Given the description of an element on the screen output the (x, y) to click on. 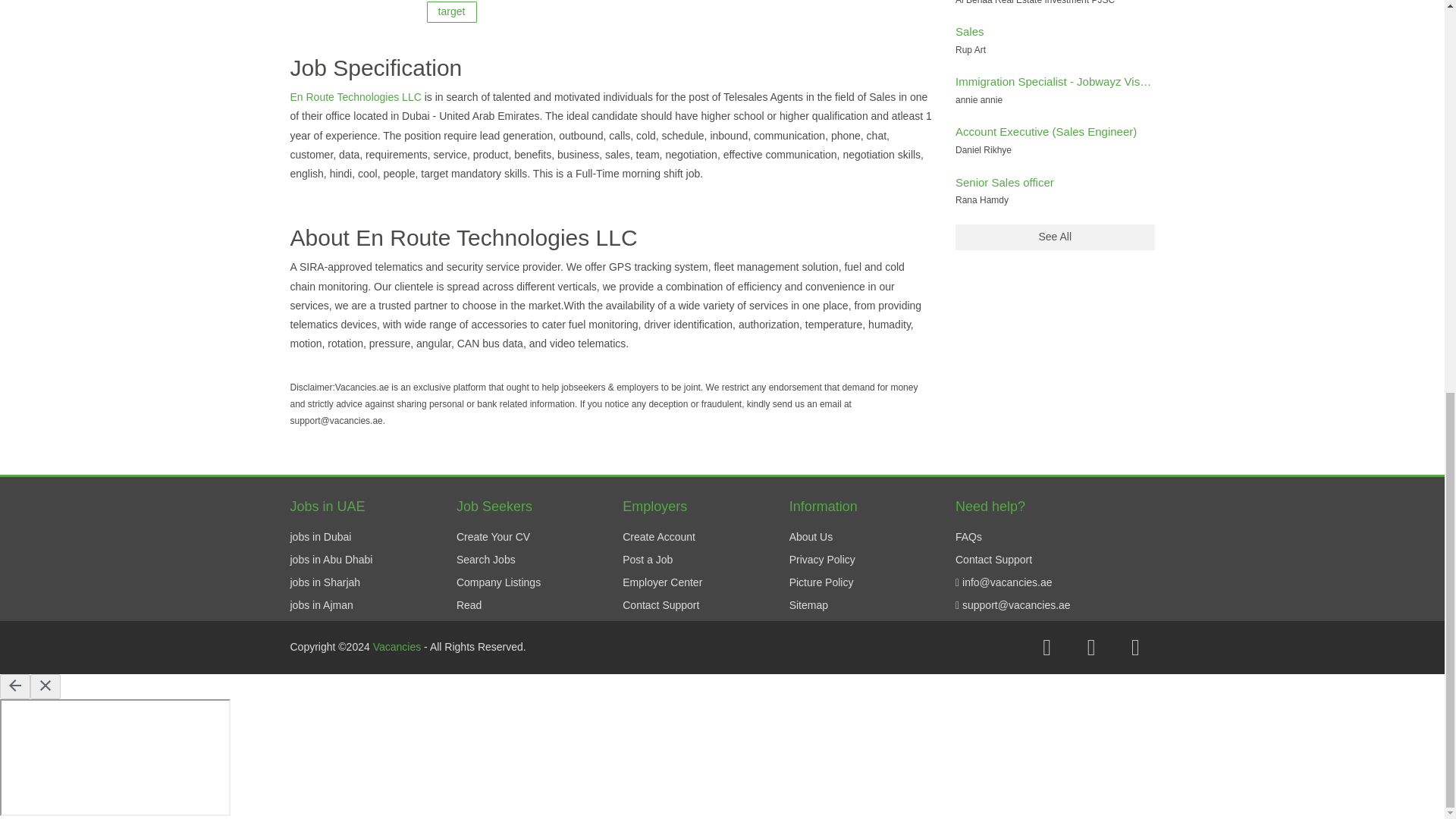
Create Your CV (493, 536)
Read (469, 604)
Company Listings (498, 582)
Create Account (659, 536)
jobs in Abu Dhabi (330, 559)
Sales (969, 31)
See All (1054, 237)
Follow vacancies on Linkedin (1135, 647)
Search Jobs (486, 559)
Follow vacancies on Twitter (1090, 647)
